Given the description of an element on the screen output the (x, y) to click on. 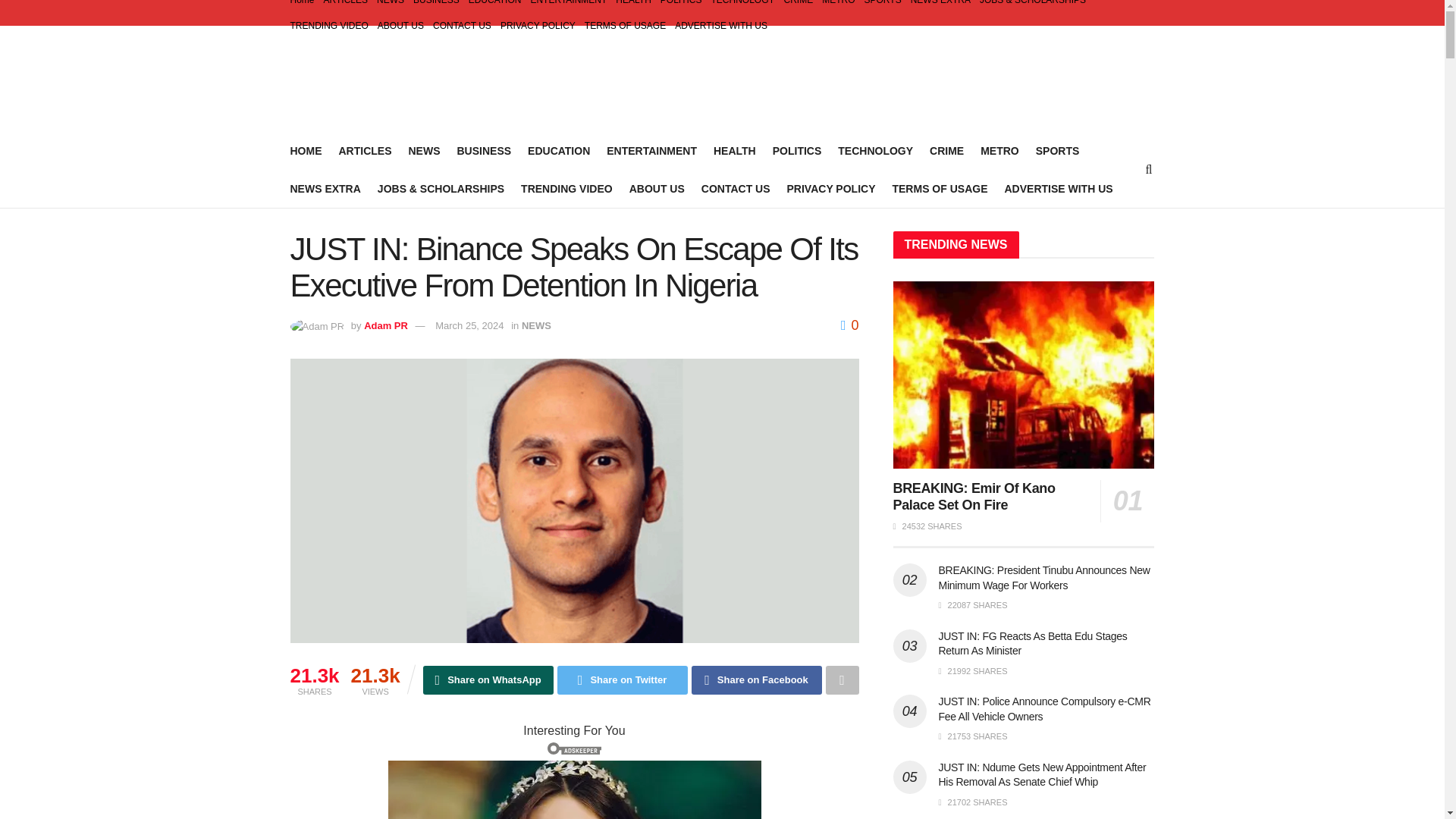
ENTERTAINMENT (652, 150)
HOME (305, 150)
POLITICS (797, 150)
METRO (838, 6)
NEWS EXTRA (941, 6)
NEWS EXTRA (324, 188)
SPORTS (1057, 150)
BUSINESS (436, 6)
CRIME (946, 150)
ABOUT US (400, 25)
HEALTH (632, 6)
TRENDING VIDEO (328, 25)
TECHNOLOGY (875, 150)
Home (301, 6)
ADVERTISE WITH US (721, 25)
